Given the description of an element on the screen output the (x, y) to click on. 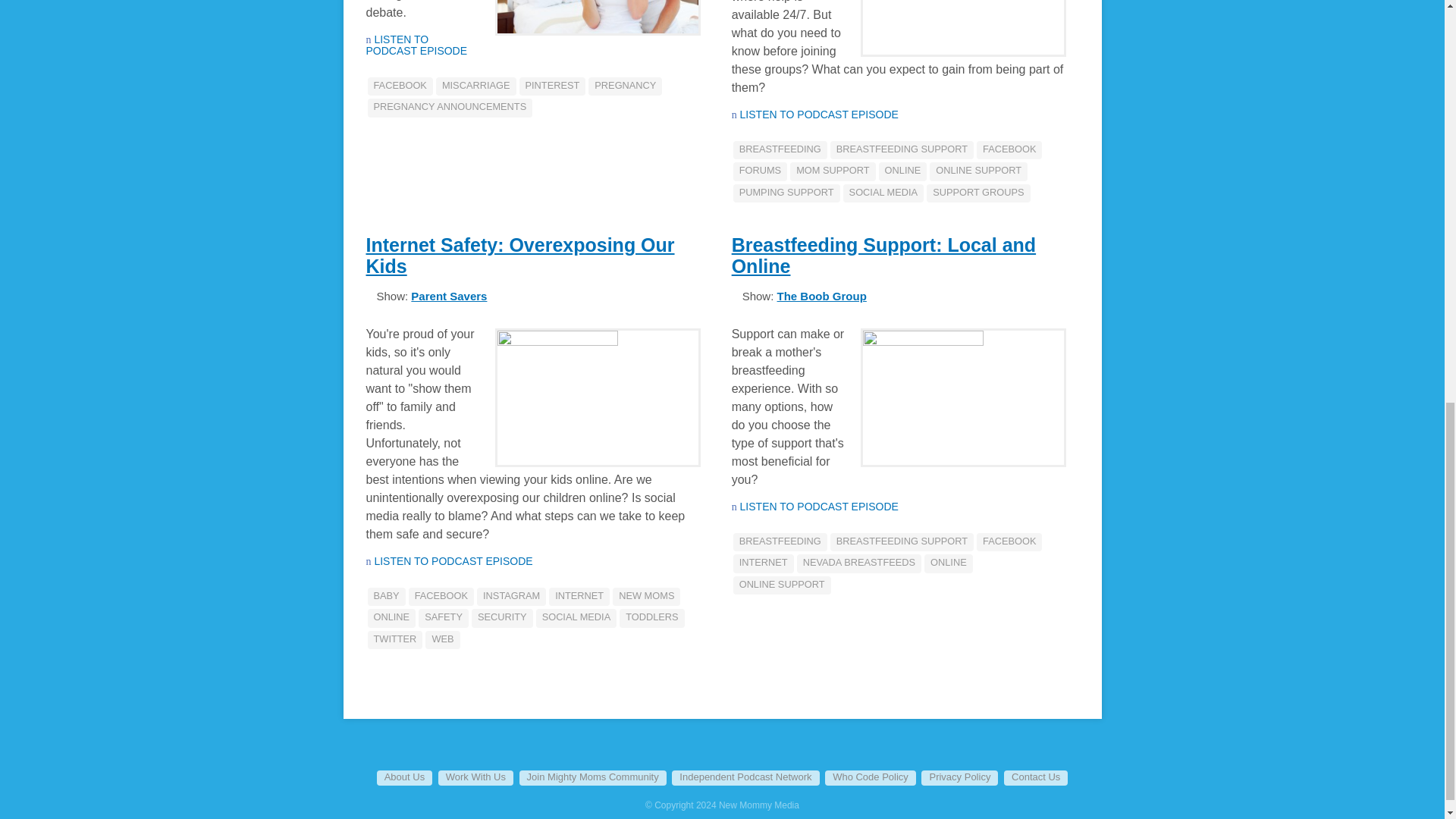
MISCARRIAGE (475, 85)
Breastfeeding Support: Local and Online (883, 255)
LISTEN TO PODCAST EPISODE (416, 44)
Internet Safety: Overexposing Our Kids (453, 561)
Internet Safety: Overexposing Our Kids (519, 255)
Seeking Support from Breastfeeding Moms Online (818, 114)
Announcing Your Pregnancy (416, 44)
PINTEREST (551, 85)
BREASTFEEDING SUPPORT (901, 149)
FACEBOOK (399, 85)
